Given the description of an element on the screen output the (x, y) to click on. 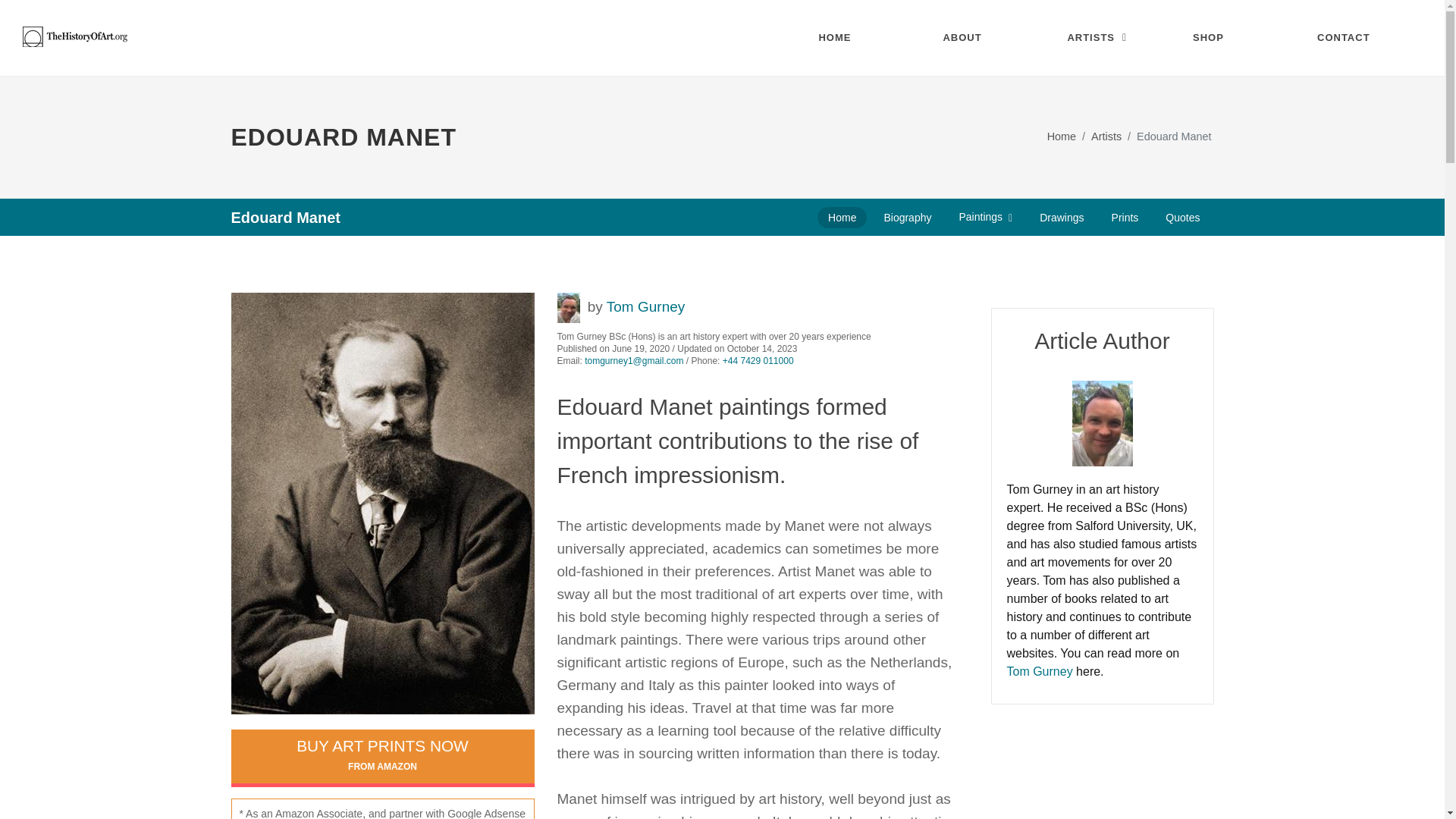
HOME (849, 38)
ARTISTS (1098, 38)
ABOUT (973, 38)
